Given the description of an element on the screen output the (x, y) to click on. 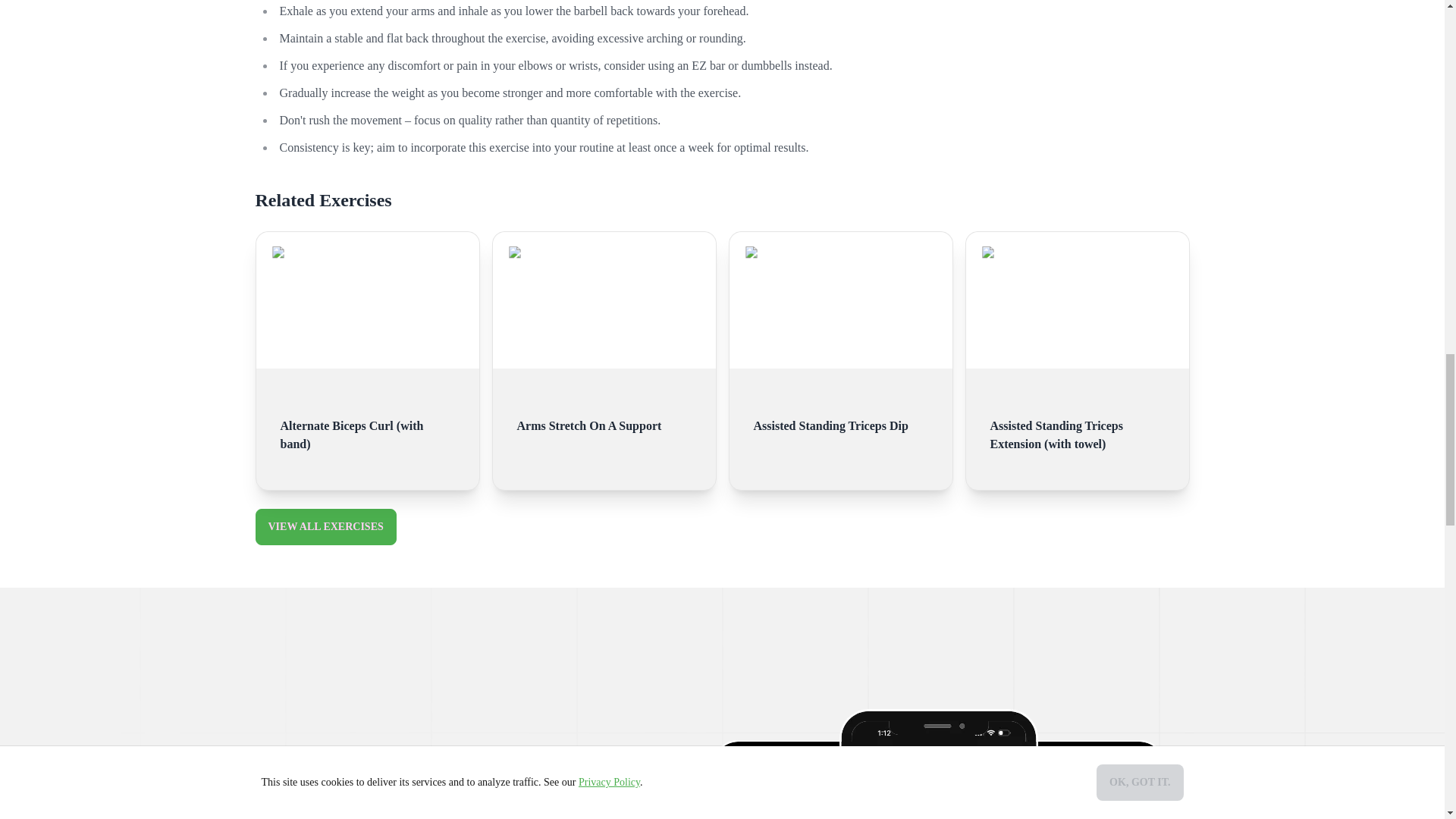
VIEW ALL EXERCISES (325, 526)
Arms Stretch On A Support (603, 420)
Assisted Standing Triceps Dip (841, 420)
